Given the description of an element on the screen output the (x, y) to click on. 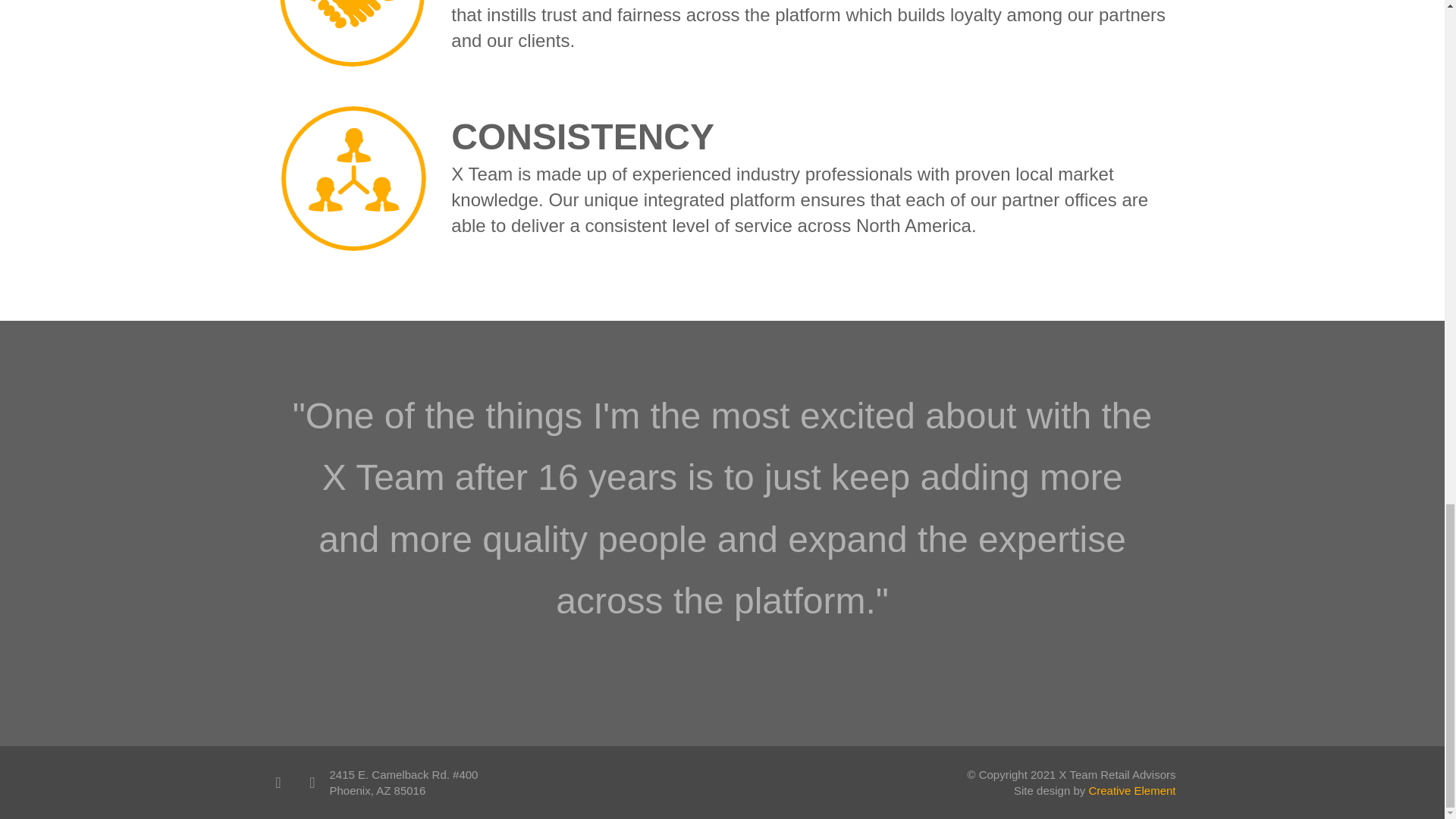
Creative Element (1130, 789)
